Given the description of an element on the screen output the (x, y) to click on. 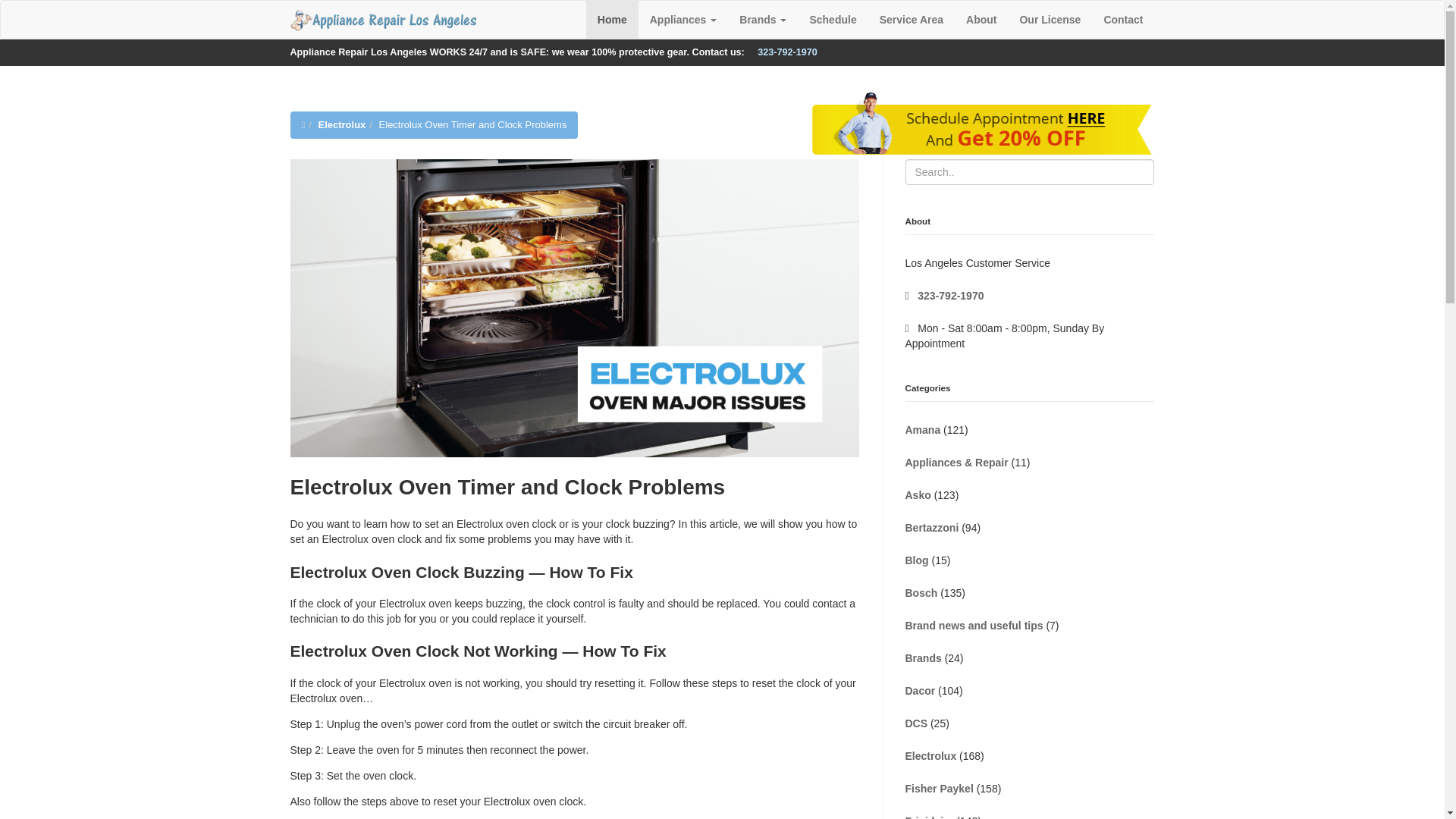
Brands (762, 19)
Service Area (911, 19)
Appliances (684, 19)
Appliance Repair Service Los Angeles (382, 19)
Appliance Repair Service Los Angeles (383, 19)
About (981, 19)
Schedule (832, 19)
Home (612, 19)
